Given the description of an element on the screen output the (x, y) to click on. 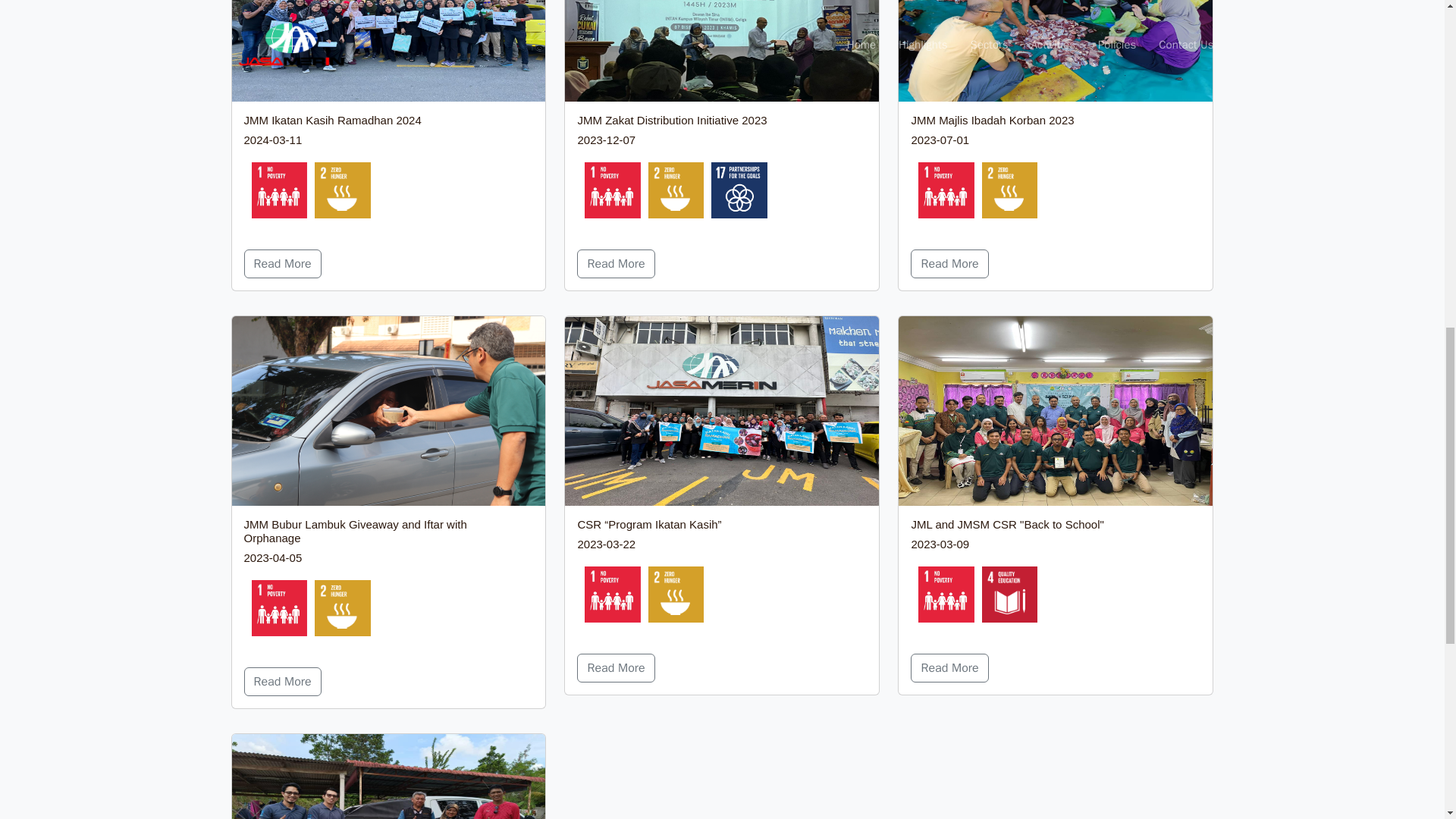
Read More (282, 681)
Read More (282, 263)
Read More (949, 263)
Read More (949, 667)
Read More (614, 667)
Read More (614, 263)
